Given the description of an element on the screen output the (x, y) to click on. 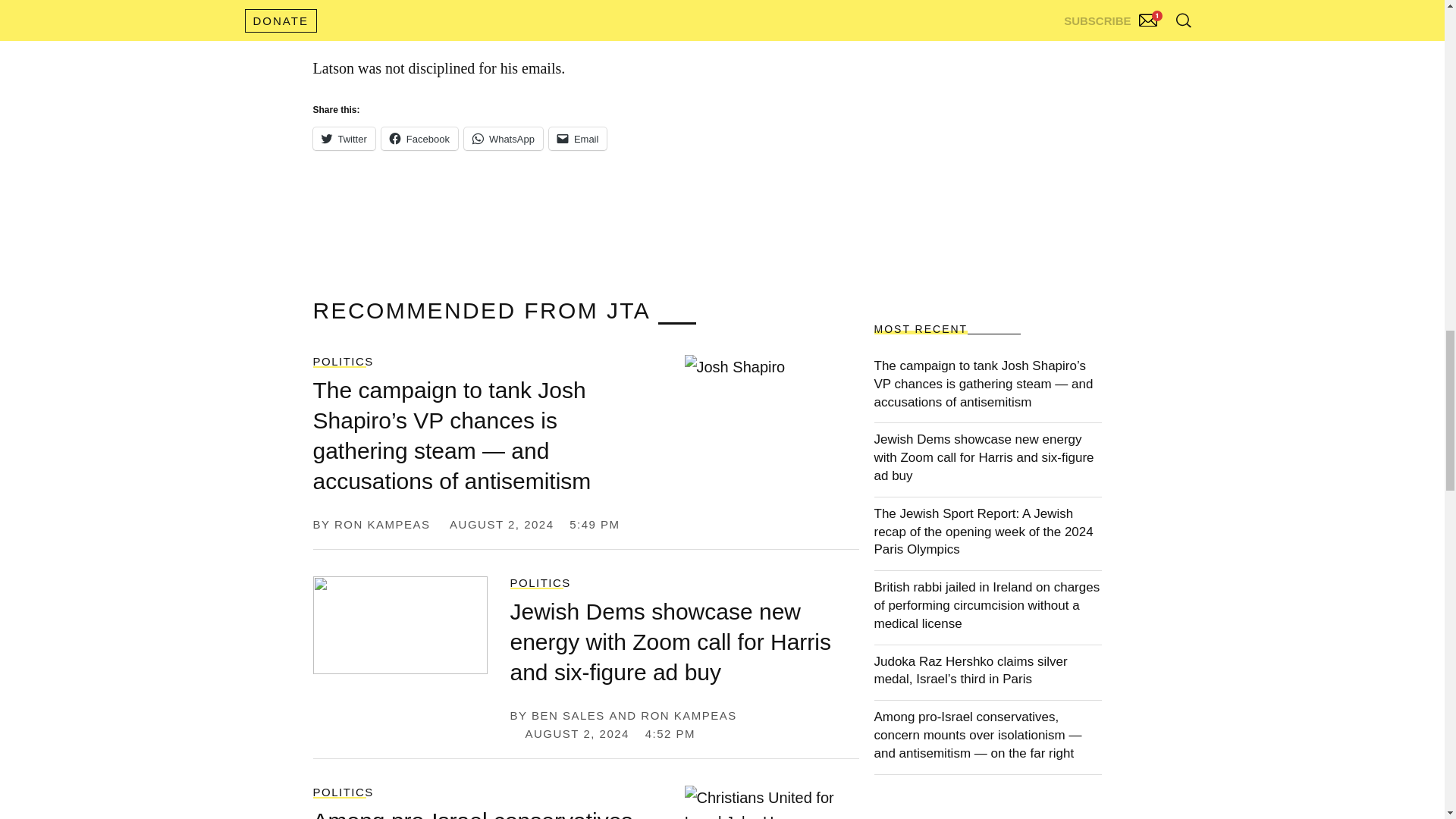
Click to share on Twitter (343, 138)
Click to share on WhatsApp (503, 138)
Click to share on Facebook (419, 138)
Click to email a link to a friend (577, 138)
